Given the description of an element on the screen output the (x, y) to click on. 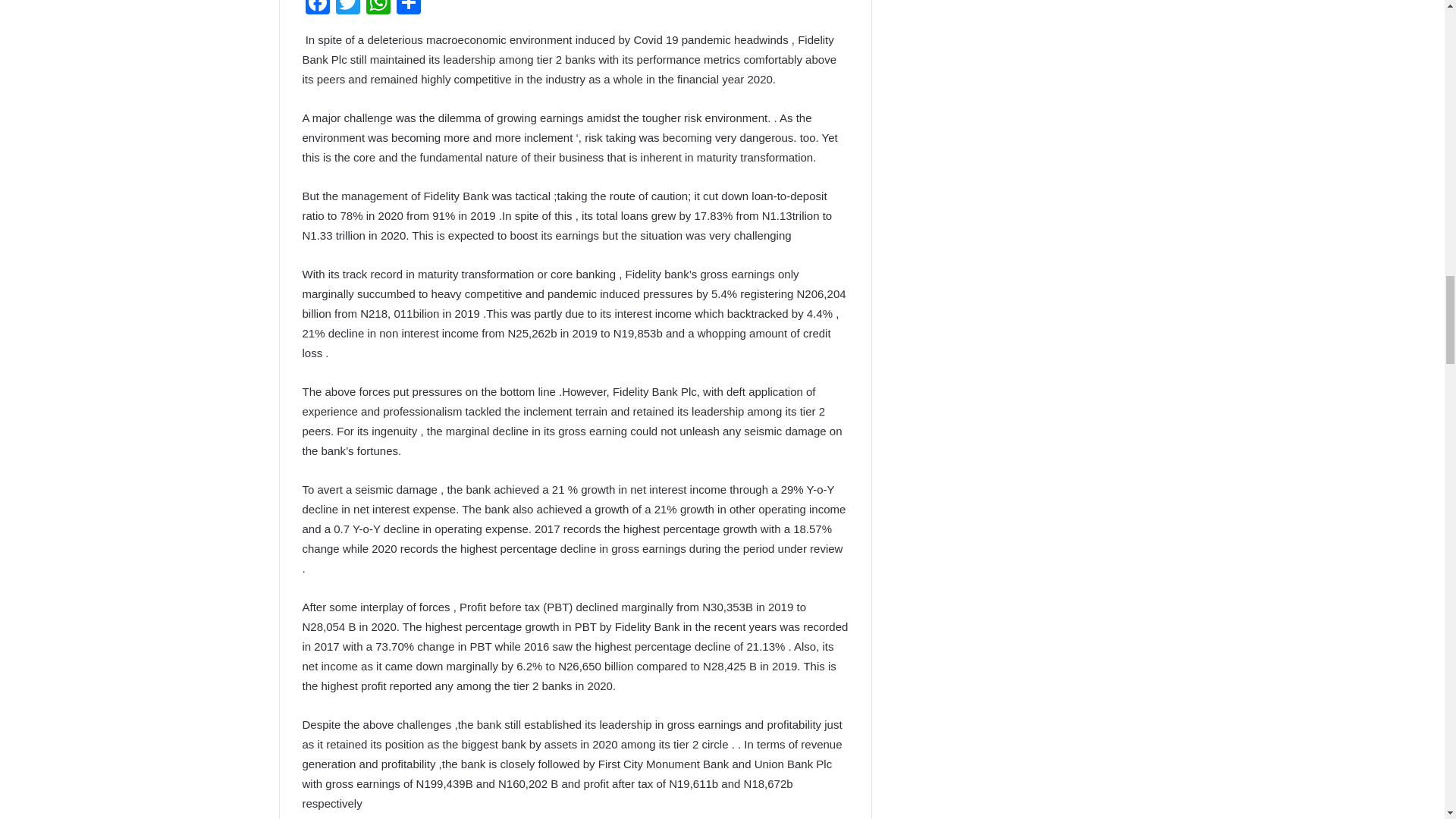
Twitter (346, 9)
WhatsApp (377, 9)
Twitter (346, 9)
Facebook (316, 9)
WhatsApp (377, 9)
Facebook (316, 9)
